Given the description of an element on the screen output the (x, y) to click on. 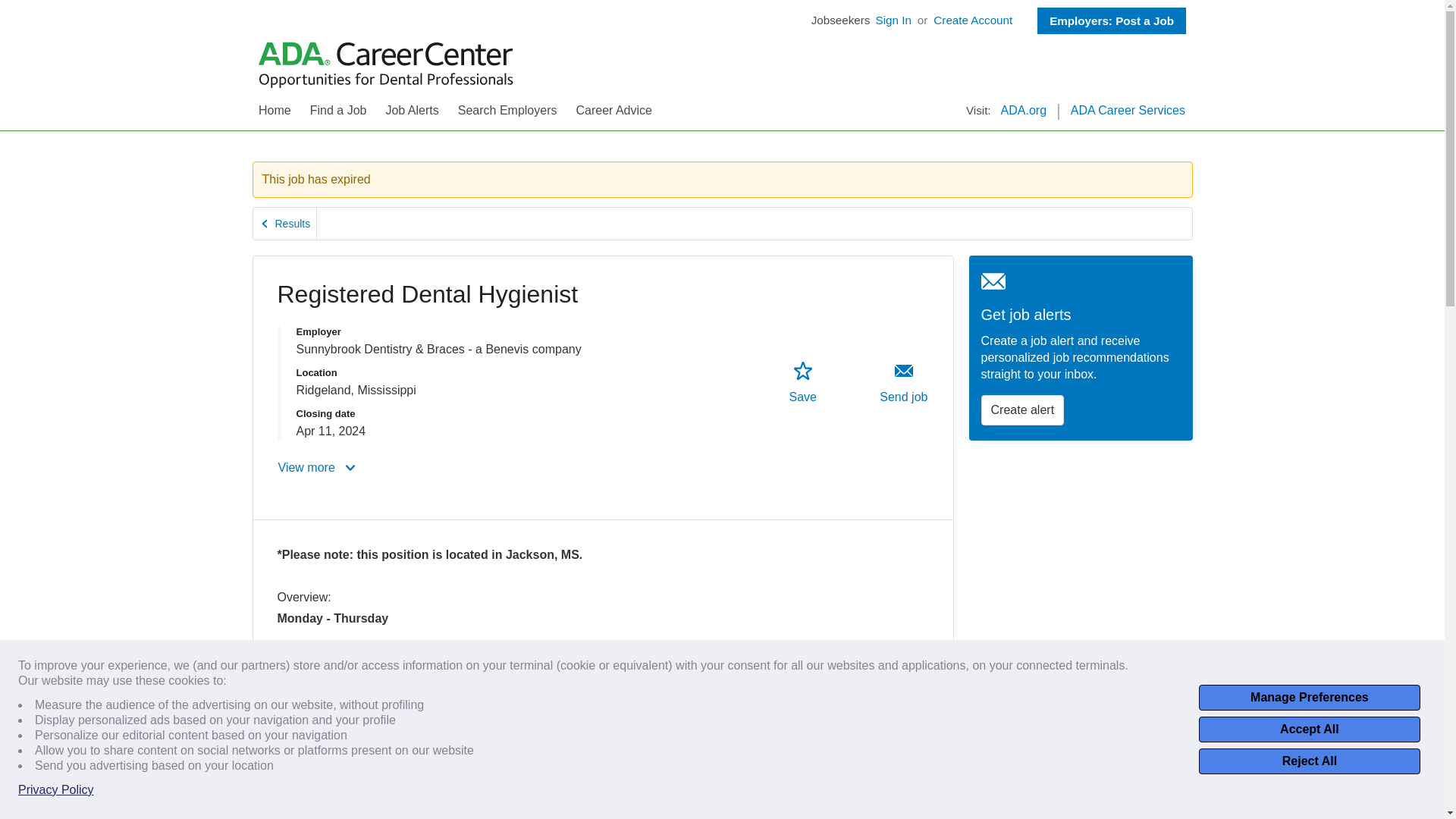
Accept All (1309, 729)
Send job (802, 382)
Create Account (903, 382)
American Dental Association (972, 19)
Results (386, 64)
Career Advice (285, 223)
ADA Career Services (613, 115)
Create alert (1127, 115)
Manage Preferences (1022, 409)
Employers: Post a Job (1309, 697)
Privacy Policy (1111, 20)
Job Alerts (55, 789)
Reject All (411, 115)
Home (1309, 760)
